Given the description of an element on the screen output the (x, y) to click on. 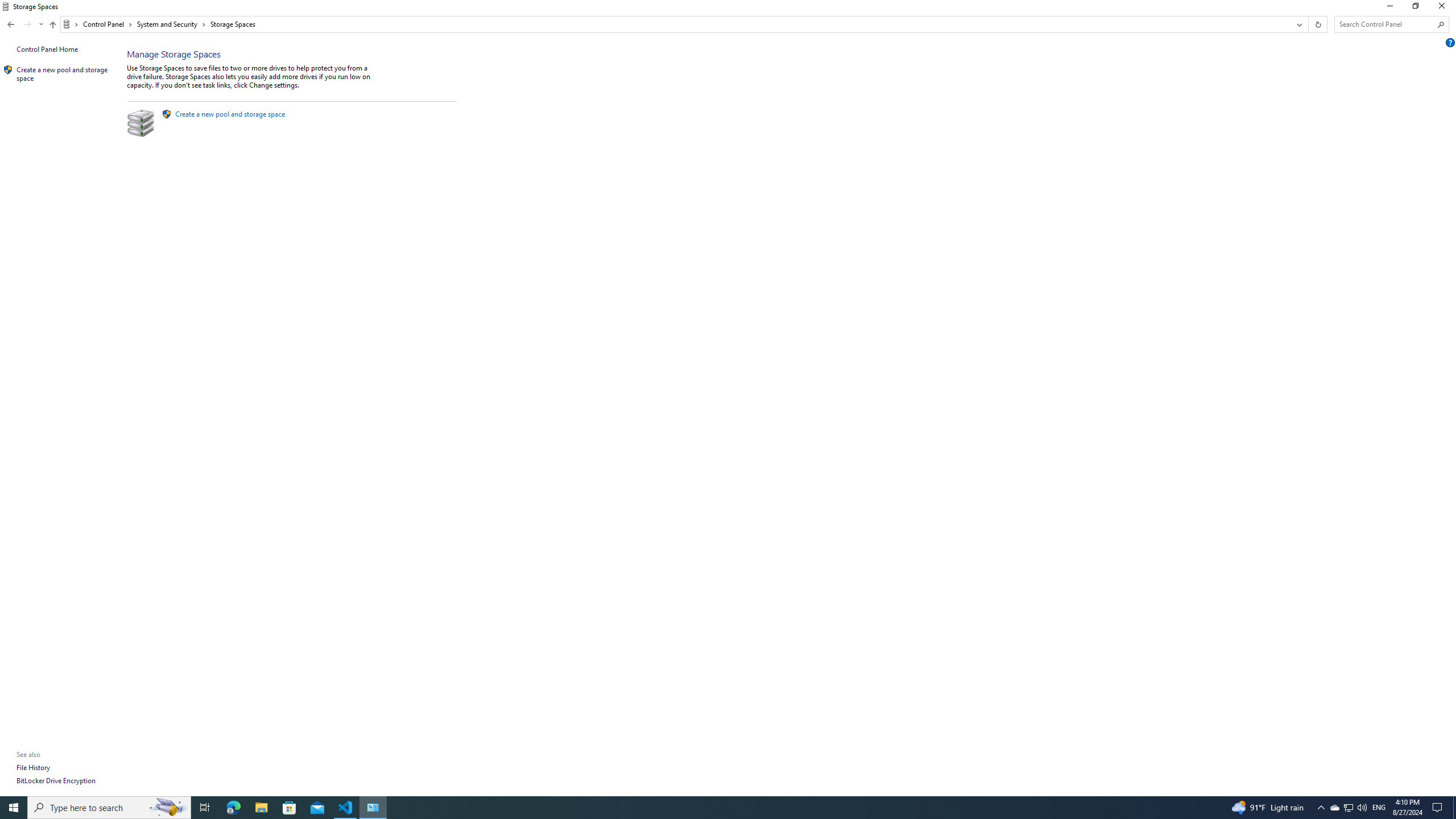
Up to "System and Security" (Alt + Up Arrow) (52, 24)
Storage Spaces (232, 23)
Navigation buttons (24, 23)
Minimize (1388, 8)
Back to System and Security (Alt + Left Arrow) (10, 23)
Recent locations (40, 23)
Address: Control Panel\System and Security\Storage Spaces (675, 23)
Restore (1415, 8)
Address band toolbar (1308, 23)
Previous Locations (1298, 23)
BitLocker Drive Encryption (56, 780)
Icon (7, 69)
